Given the description of an element on the screen output the (x, y) to click on. 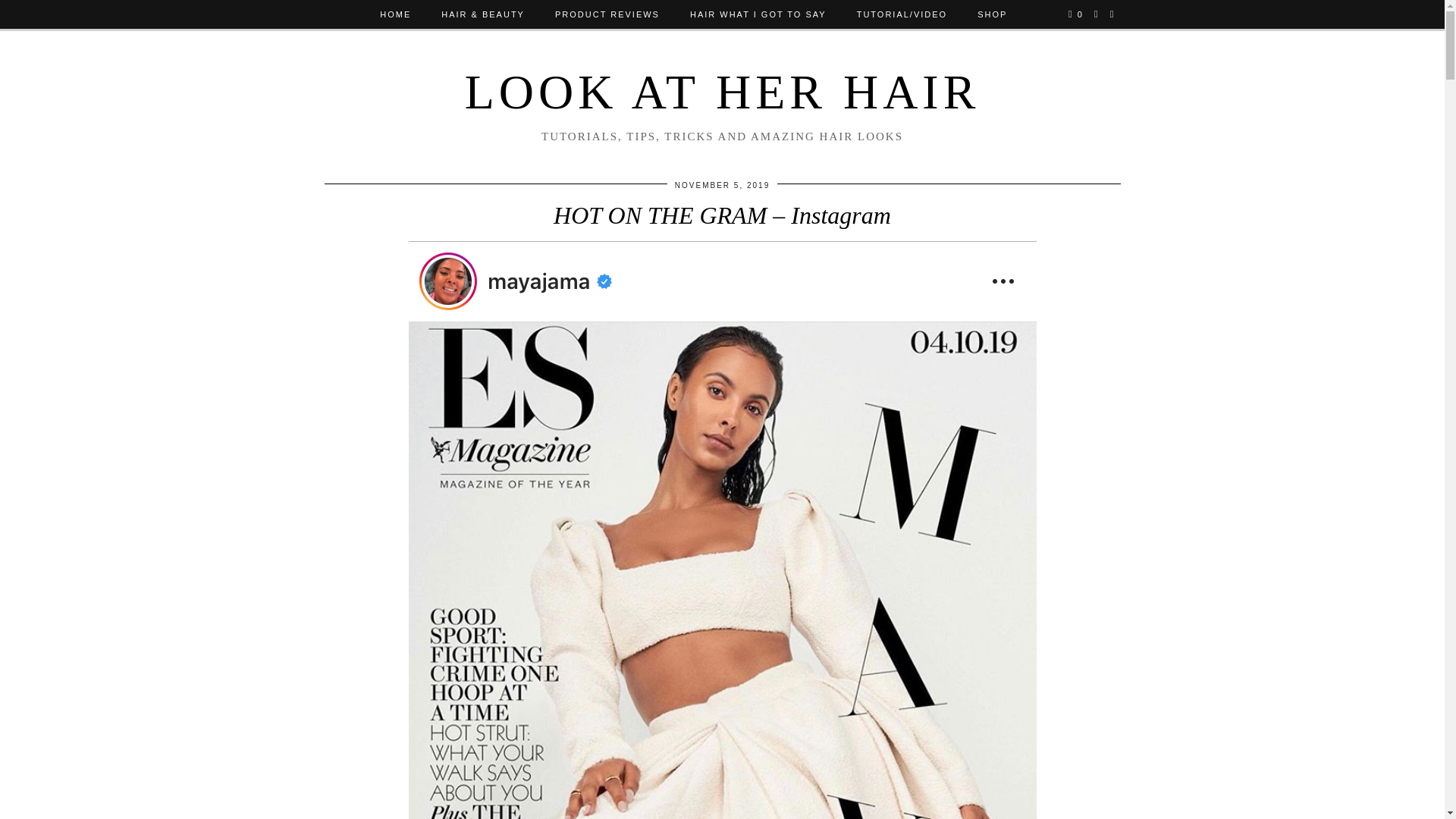
SHOP (992, 14)
PRODUCT REVIEWS (607, 14)
LOOK AT HER HAIR (721, 91)
Shopping cart (1075, 14)
HAIR WHAT I GOT TO SAY (758, 14)
Instagram (1096, 14)
0 (1075, 14)
HOME (395, 14)
Email (1112, 14)
Look At Her Hair (721, 91)
